Given the description of an element on the screen output the (x, y) to click on. 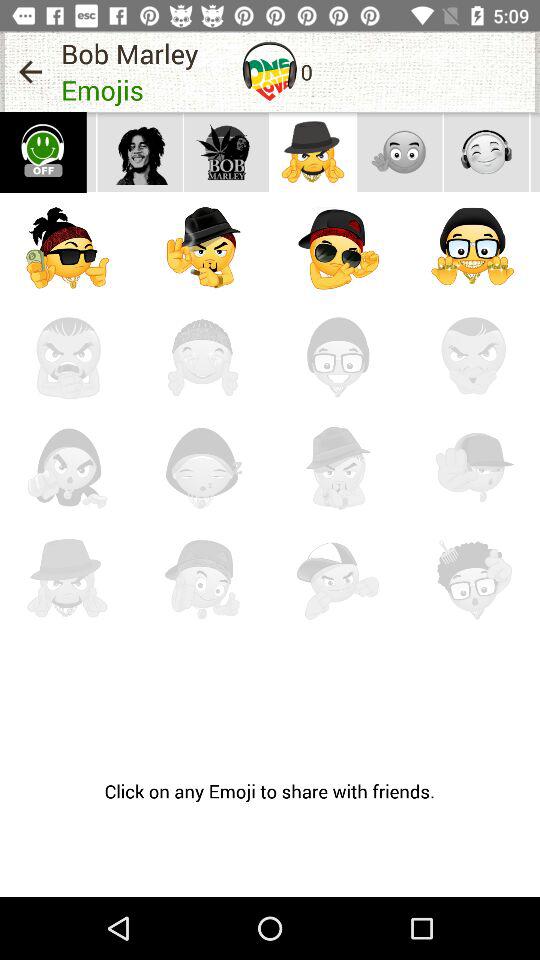
click the icon next to the bob marley icon (30, 71)
